Given the description of an element on the screen output the (x, y) to click on. 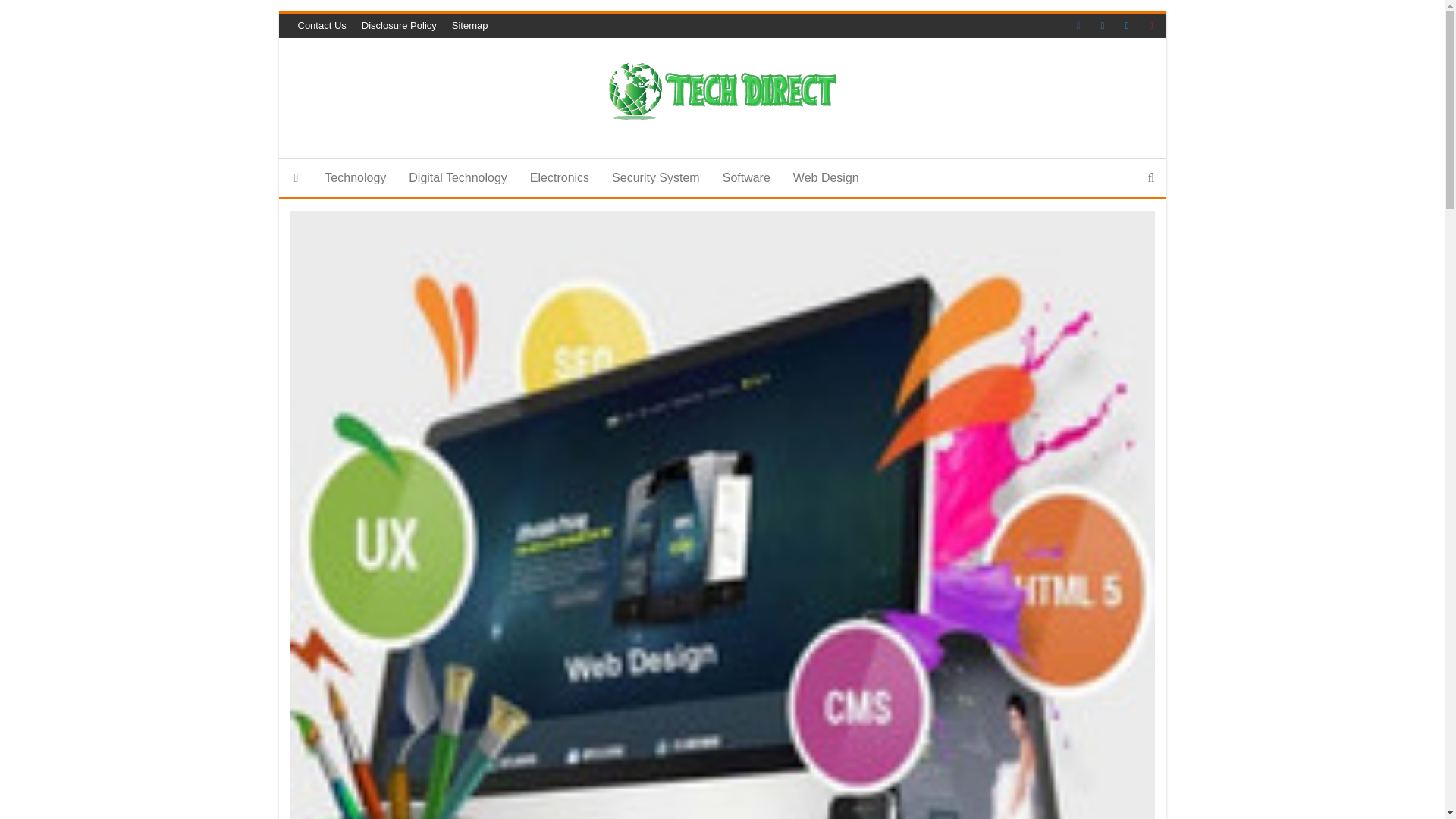
Twitter (1129, 25)
Software (746, 177)
Web Design (825, 177)
Electronics (558, 177)
Disclosure Policy (398, 25)
Technology (355, 177)
Tech Direct (744, 160)
Web Design (825, 177)
Electronics (558, 177)
